Given the description of an element on the screen output the (x, y) to click on. 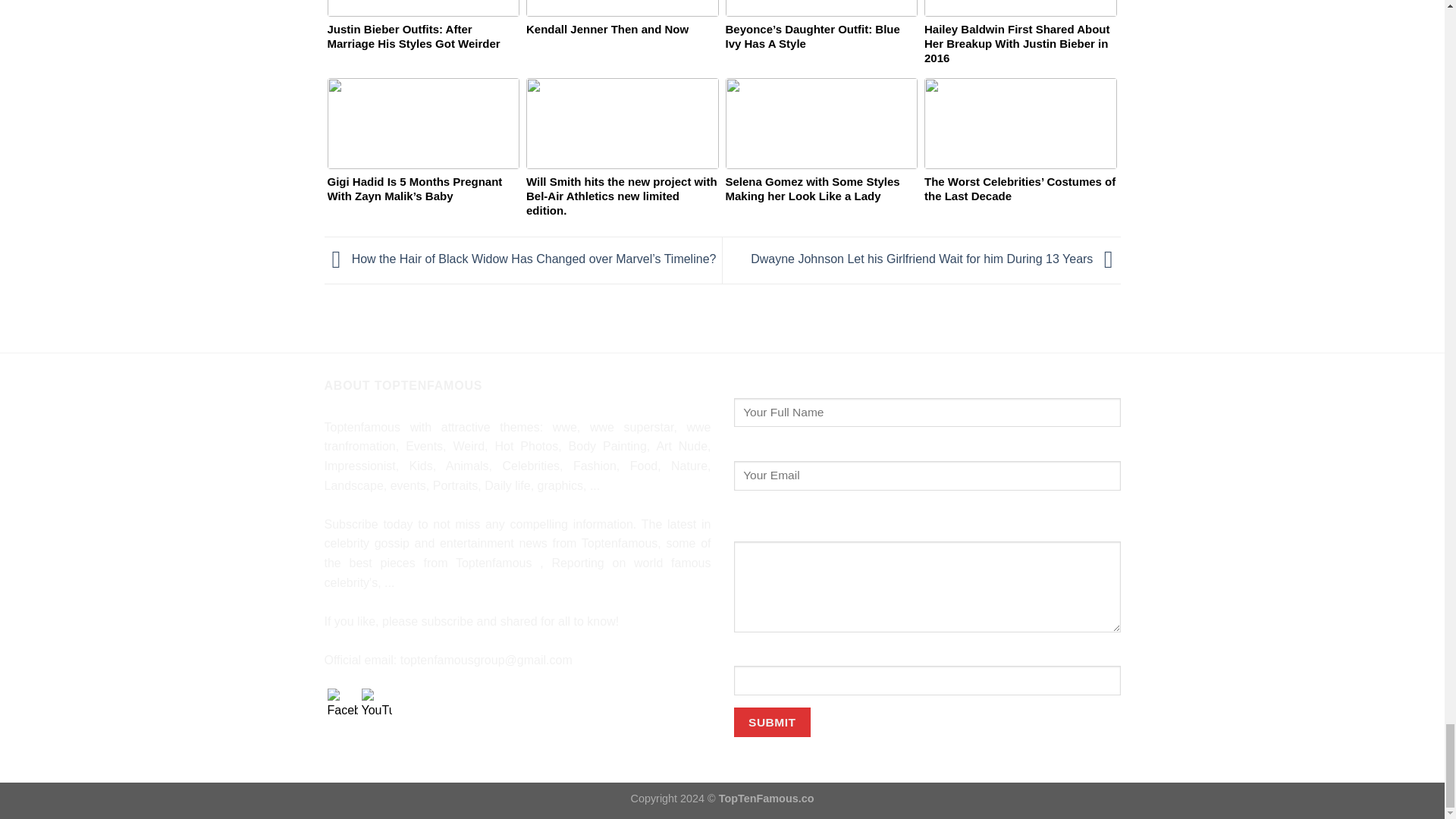
Kendall Jenner Then and Now (622, 40)
YouTube (376, 703)
Justin Bieber Outfits: After Marriage His Styles Got Weirder (423, 40)
Facebook (342, 703)
